Given the description of an element on the screen output the (x, y) to click on. 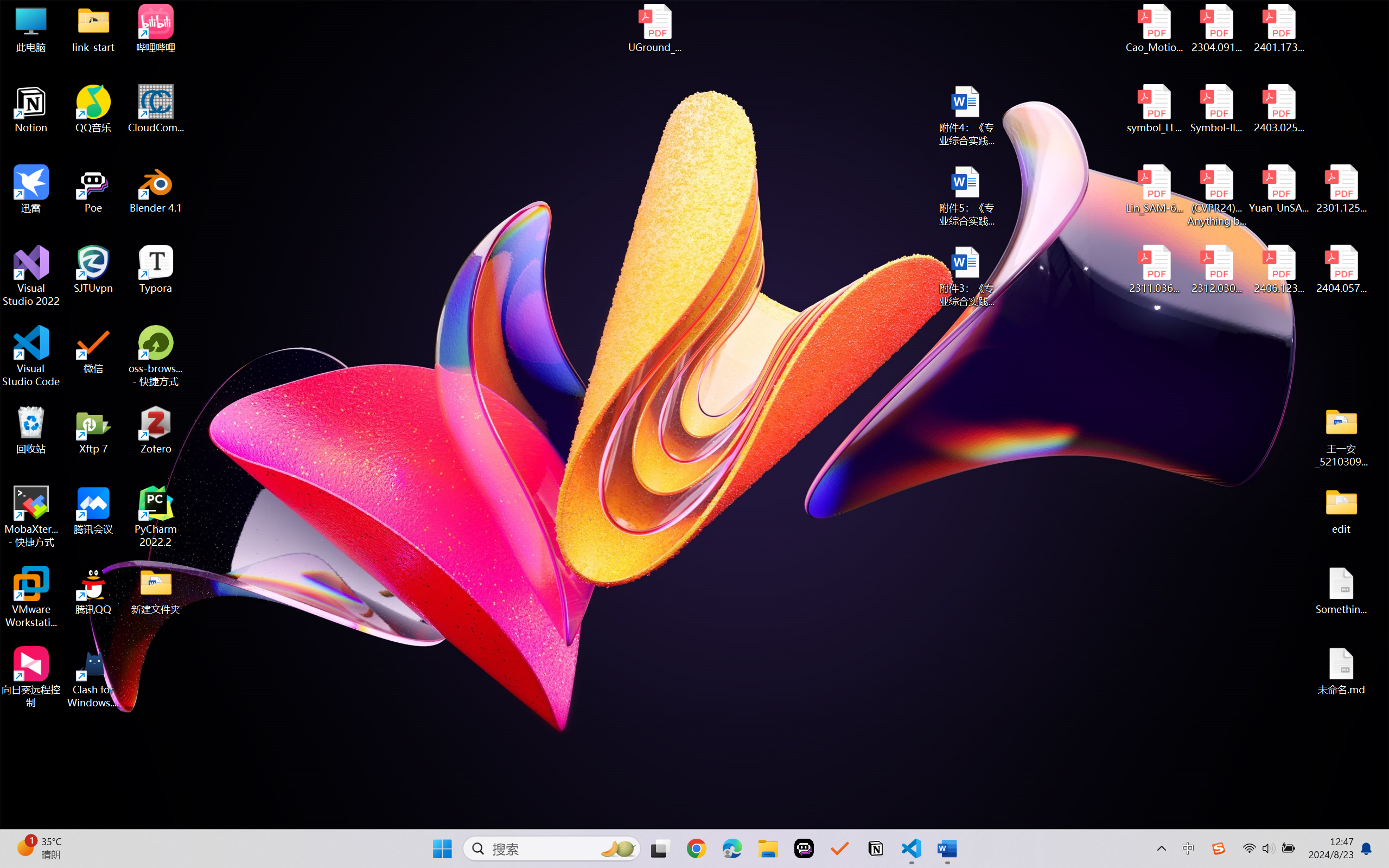
CloudCompare (156, 109)
Visual Studio 2022 (31, 276)
symbol_LLM.pdf (1154, 109)
Blender 4.1 (156, 189)
VMware Workstation Pro (31, 597)
edit (1340, 510)
